Given the description of an element on the screen output the (x, y) to click on. 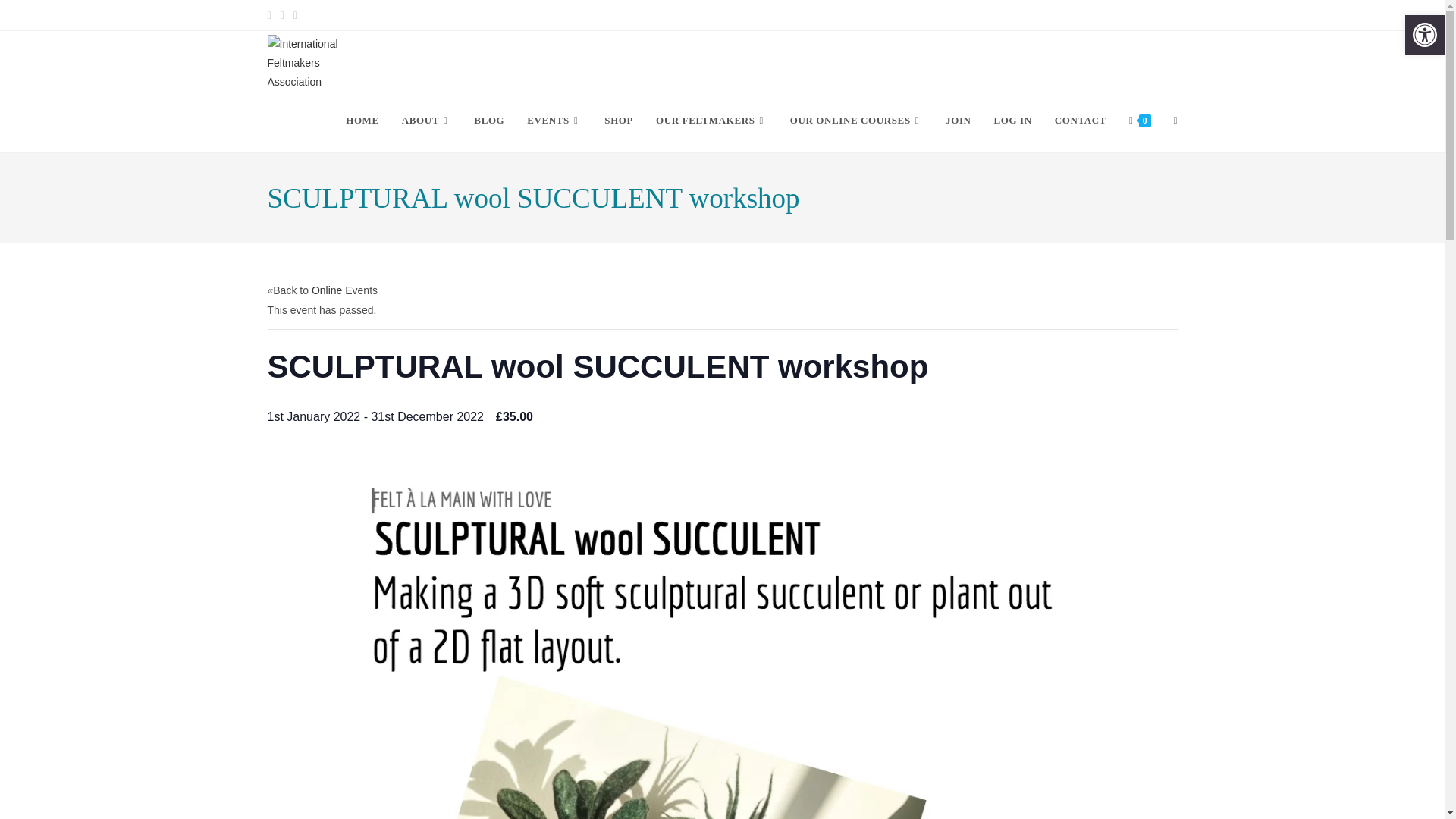
OUR FELTMAKERS (711, 120)
ABOUT (426, 120)
EVENTS (553, 120)
SHOP (618, 120)
OUR ONLINE COURSES (856, 120)
HOME (362, 120)
BLOG (489, 120)
Accessibility Tools (1424, 34)
